Given the description of an element on the screen output the (x, y) to click on. 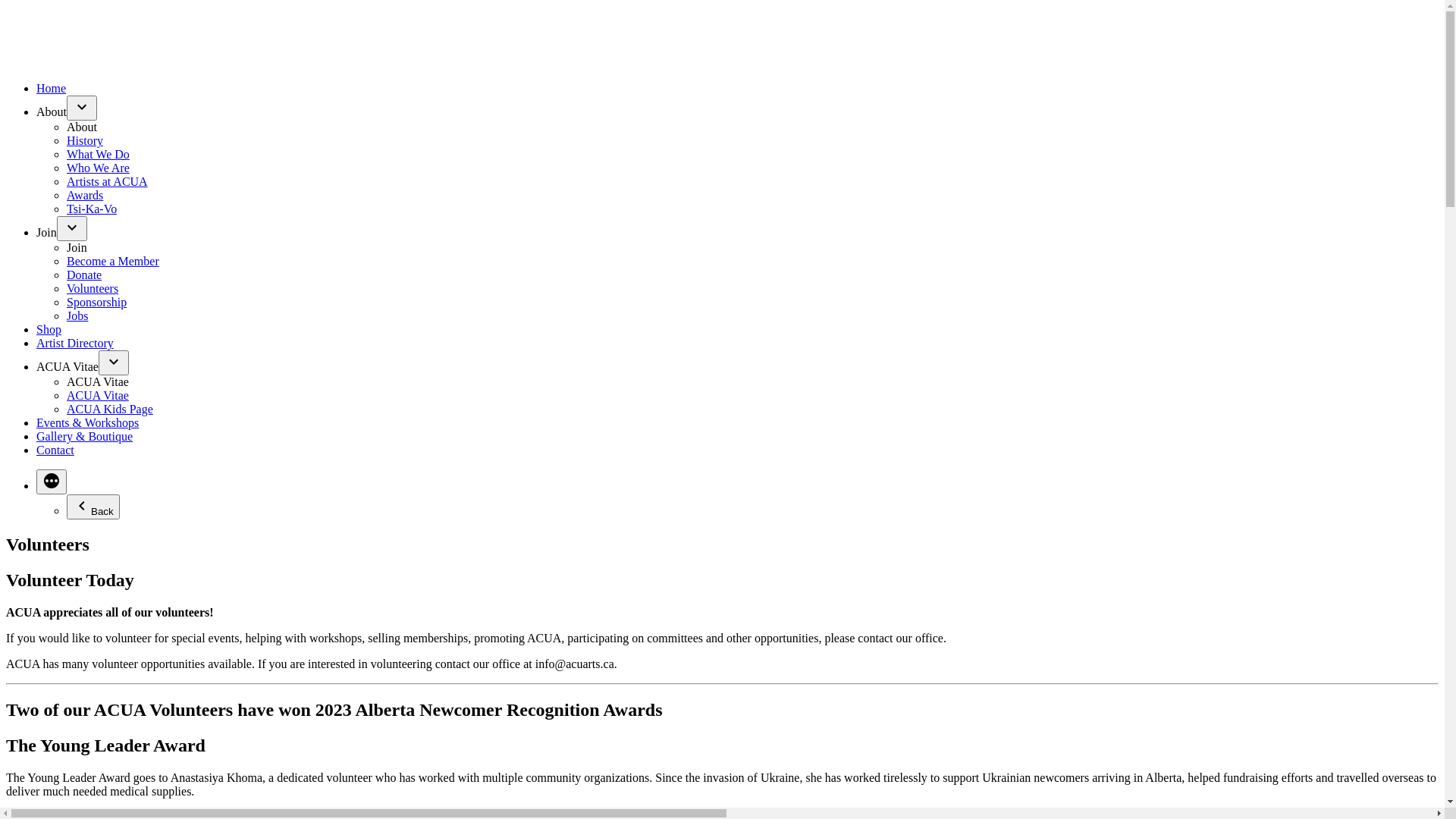
Join Element type: text (76, 247)
Join Element type: text (46, 231)
info@acuarts.ca Element type: text (574, 663)
Tsi-Ka-Vo Element type: text (91, 208)
Jobs Element type: text (76, 315)
Sponsorship Element type: text (96, 301)
Home Element type: text (50, 87)
Donate Element type: text (83, 274)
Who We Are Element type: text (97, 167)
About Element type: text (51, 111)
Volunteers Element type: text (92, 288)
Gallery & Boutique Element type: text (84, 435)
History Element type: text (84, 140)
What We Do Element type: text (97, 153)
ACUA Vitae Element type: text (97, 395)
Artists at ACUA Element type: text (106, 181)
About Element type: text (81, 126)
Events & Workshops Element type: text (87, 422)
Become a Member Element type: text (112, 260)
ACUA Vitae Element type: text (67, 366)
Artist Directory Element type: text (74, 342)
ACUA Kids Page Element type: text (109, 408)
Shop Element type: text (48, 329)
ACUA Vitae Element type: text (97, 381)
Awards Element type: text (84, 194)
Contact Element type: text (55, 449)
Back Element type: text (92, 506)
